Given the description of an element on the screen output the (x, y) to click on. 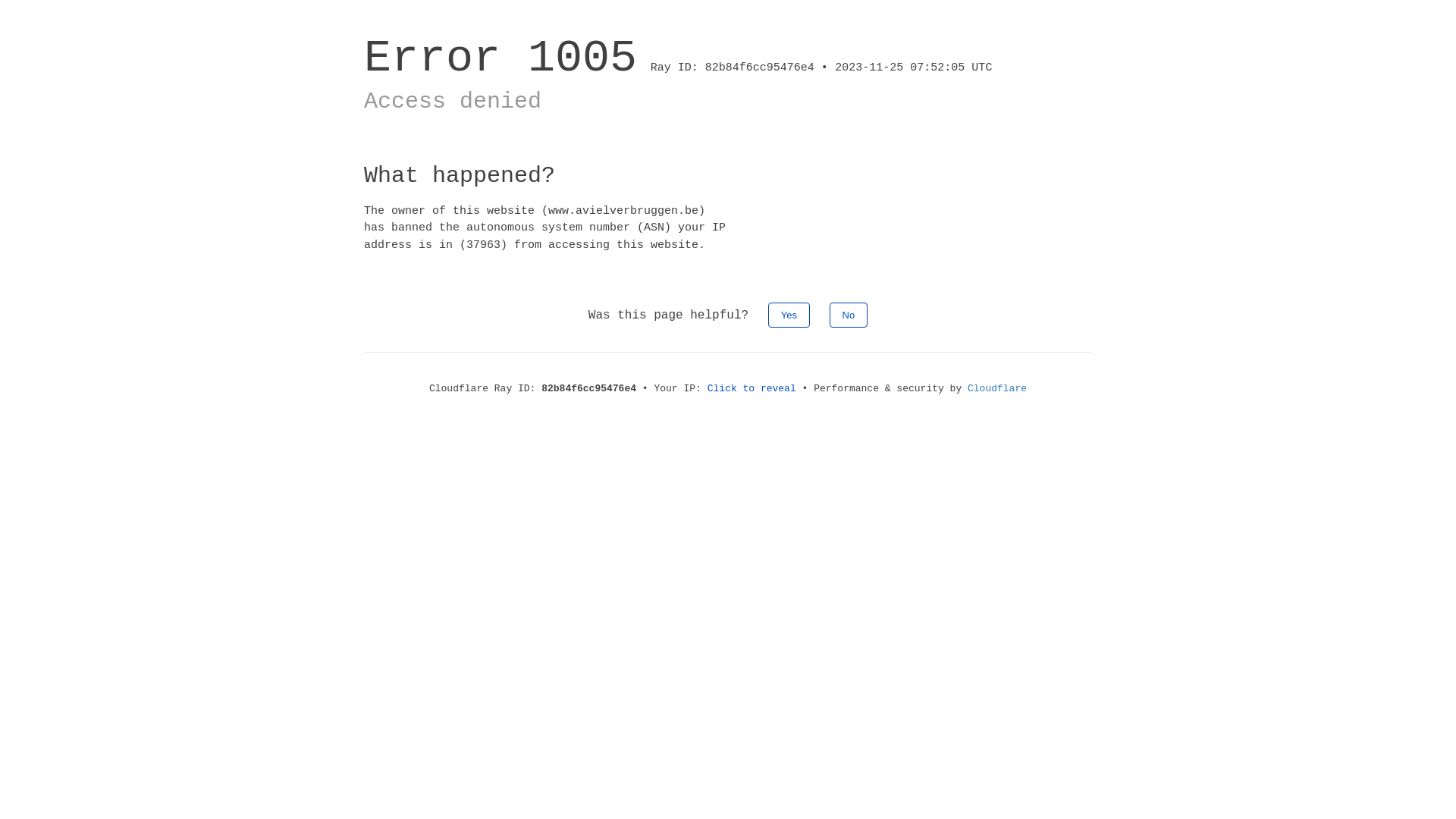
No Element type: text (848, 314)
Cloudflare Element type: text (996, 388)
Click to reveal Element type: text (751, 388)
Yes Element type: text (788, 314)
